Given the description of an element on the screen output the (x, y) to click on. 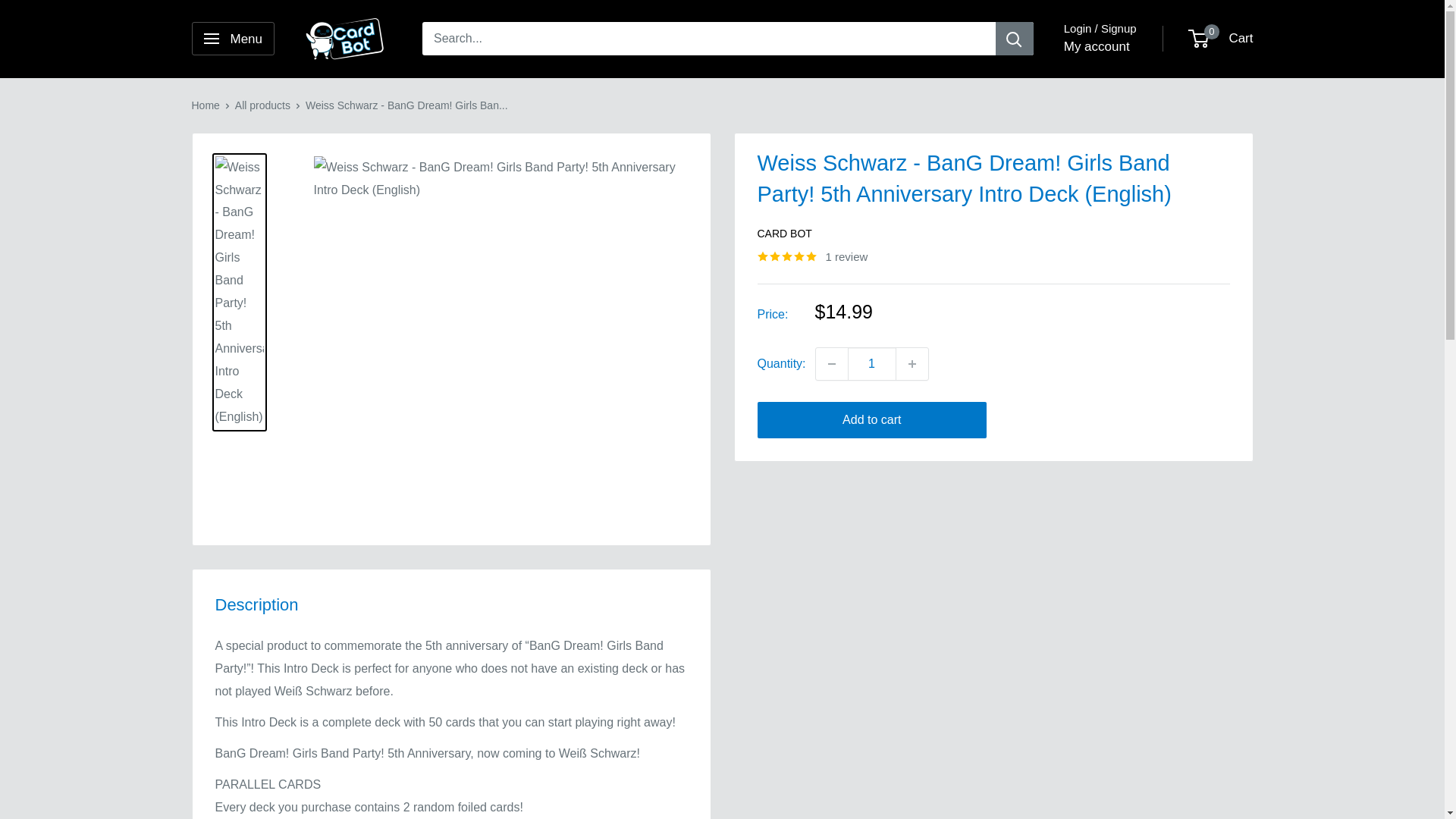
Increase quantity by 1 (912, 364)
Decrease quantity by 1 (831, 364)
1 (871, 364)
